Given the description of an element on the screen output the (x, y) to click on. 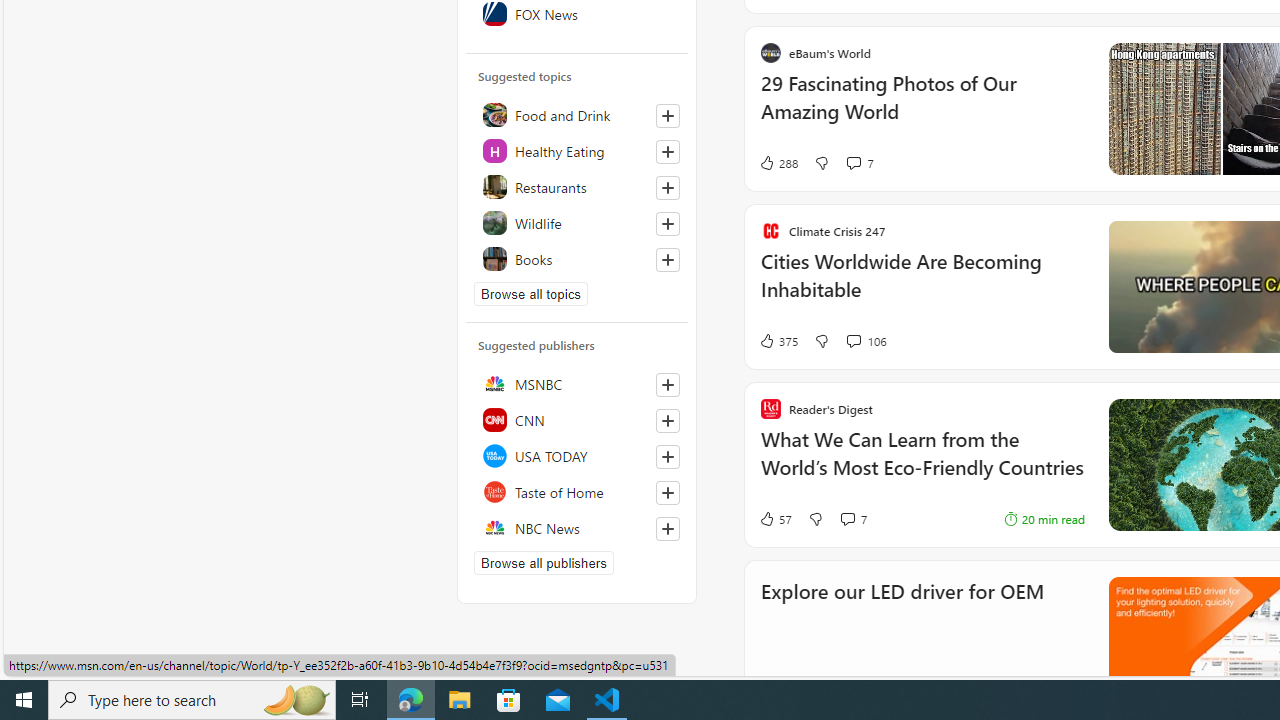
Follow this topic (667, 259)
Browse all publishers (543, 562)
View comments 106 Comment (852, 340)
NBC News (577, 528)
Wildlife (577, 222)
Browse all topics (530, 294)
View comments 7 Comment (852, 518)
Explore our LED driver for OEM (902, 618)
Food and Drink (577, 114)
Restaurants (577, 186)
288 Like (778, 162)
View comments 106 Comment (865, 340)
Follow this topic (667, 259)
